Given the description of an element on the screen output the (x, y) to click on. 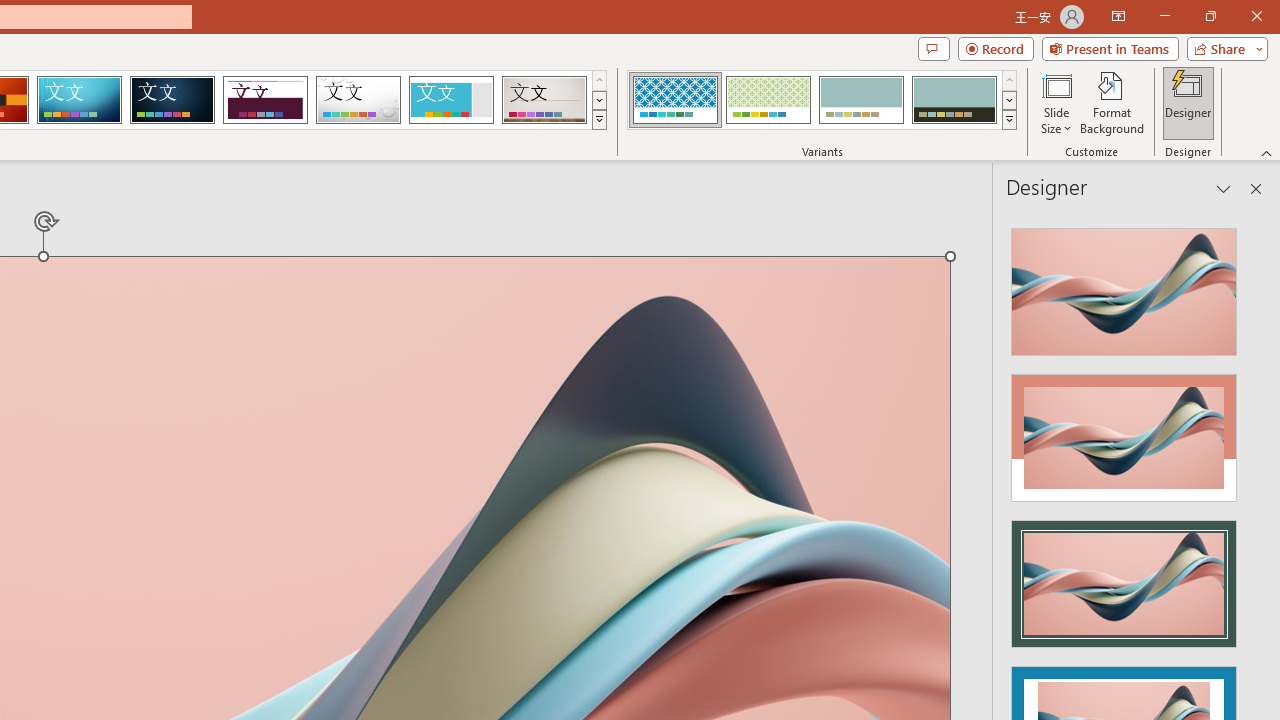
Integral Variant 4 (953, 100)
Gallery (544, 100)
Themes (598, 120)
Droplet (358, 100)
Slide Size (1056, 102)
AutomationID: ThemeVariantsGallery (822, 99)
Variants (1009, 120)
Format Background (1111, 102)
